Given the description of an element on the screen output the (x, y) to click on. 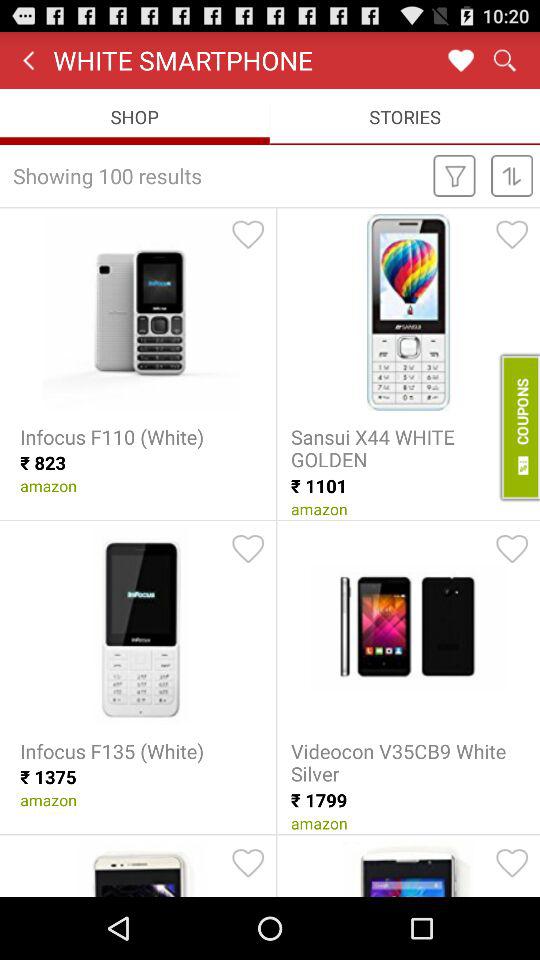
favorite (512, 234)
